Given the description of an element on the screen output the (x, y) to click on. 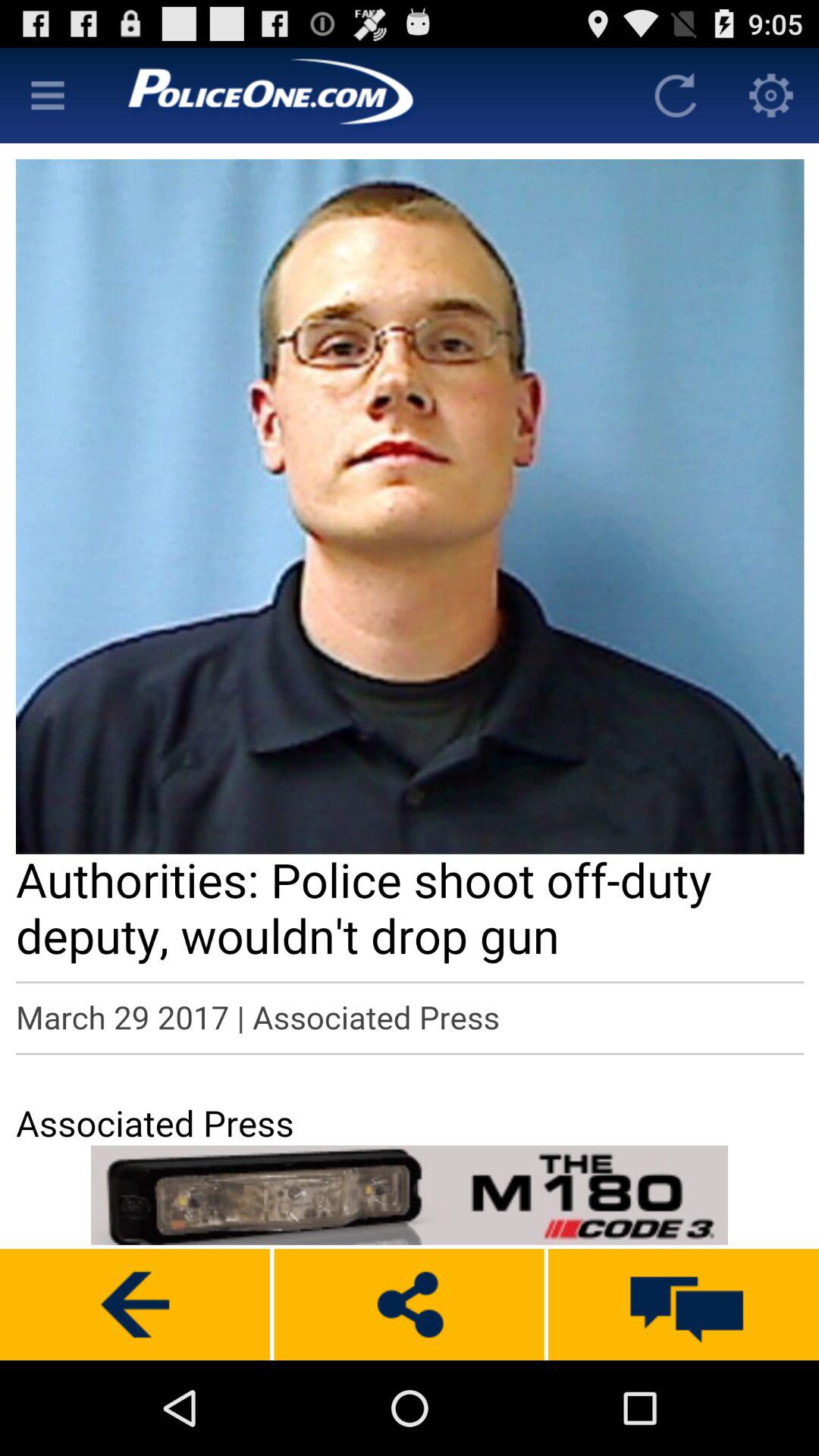
advertisement (409, 1194)
